Given the description of an element on the screen output the (x, y) to click on. 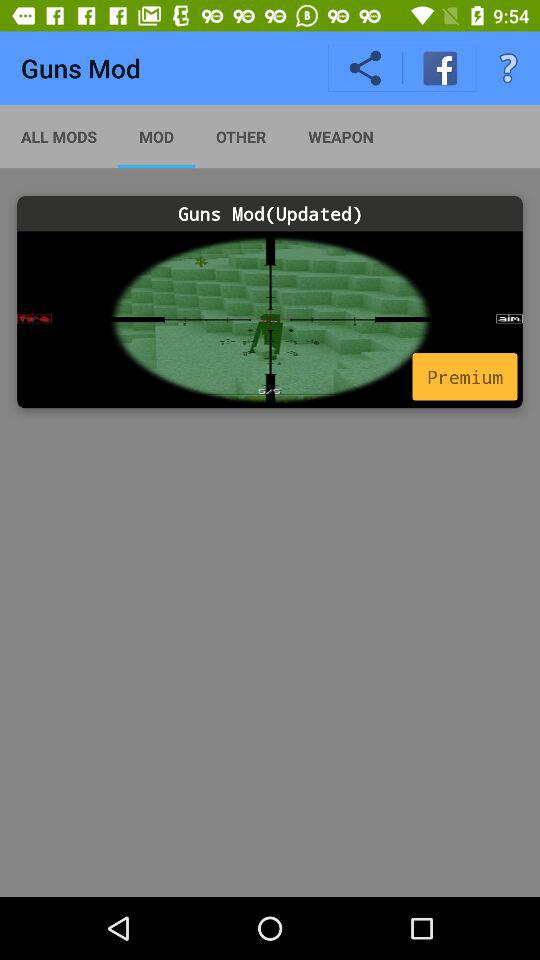
press the app next to the mod app (240, 136)
